Given the description of an element on the screen output the (x, y) to click on. 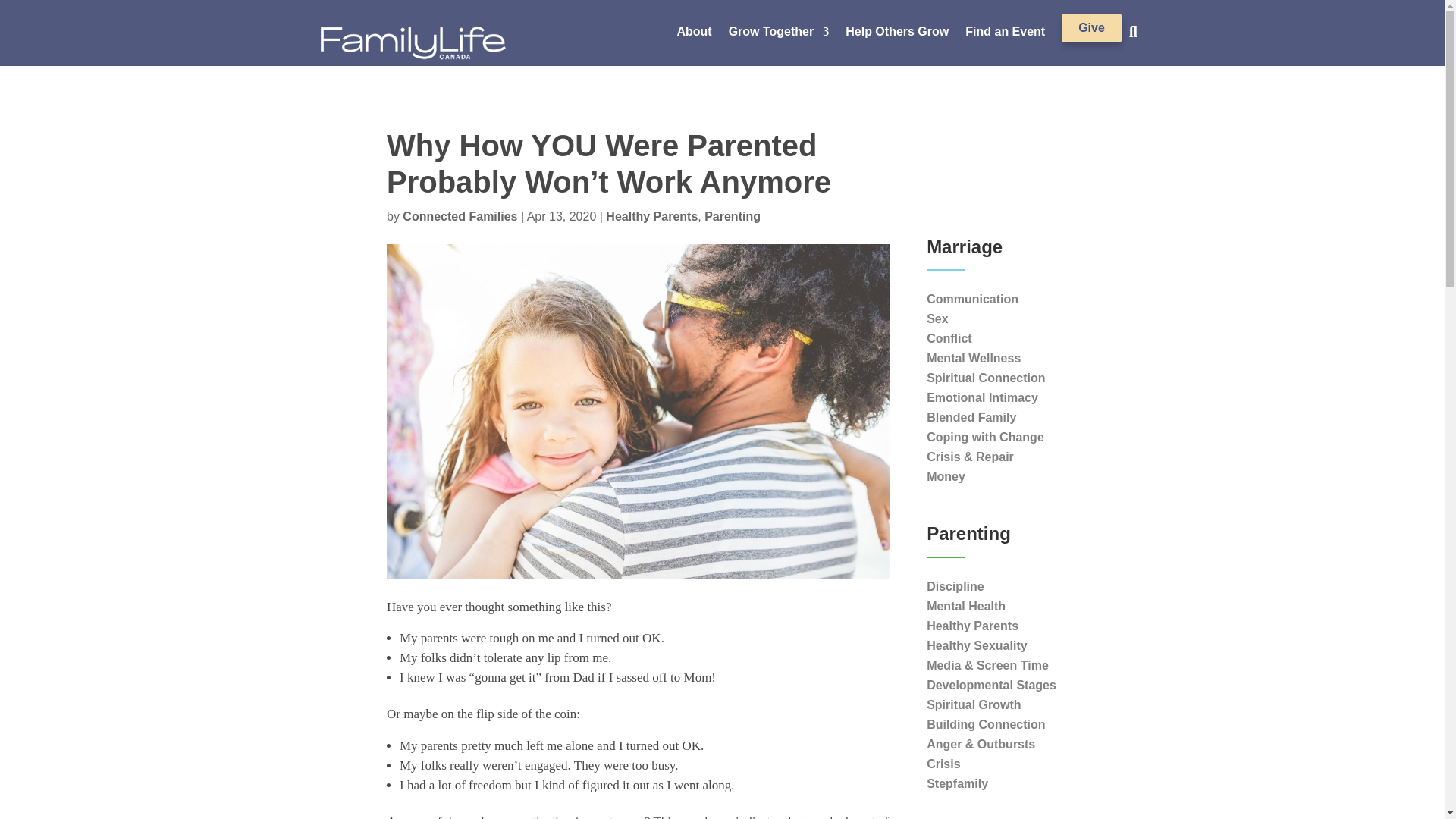
Mental Wellness (973, 358)
Healthy Parents (651, 215)
Grow Together (779, 34)
About (694, 34)
FL-CANADA-WHITE-LOGO (413, 42)
Sex (936, 318)
Connected Families (459, 215)
Parenting (732, 215)
Find an Event (1005, 34)
Conflict (949, 338)
Posts by Connected Families (459, 215)
Spiritual Connection (985, 377)
Help Others Grow (897, 34)
Communication (971, 298)
Give (1091, 27)
